Given the description of an element on the screen output the (x, y) to click on. 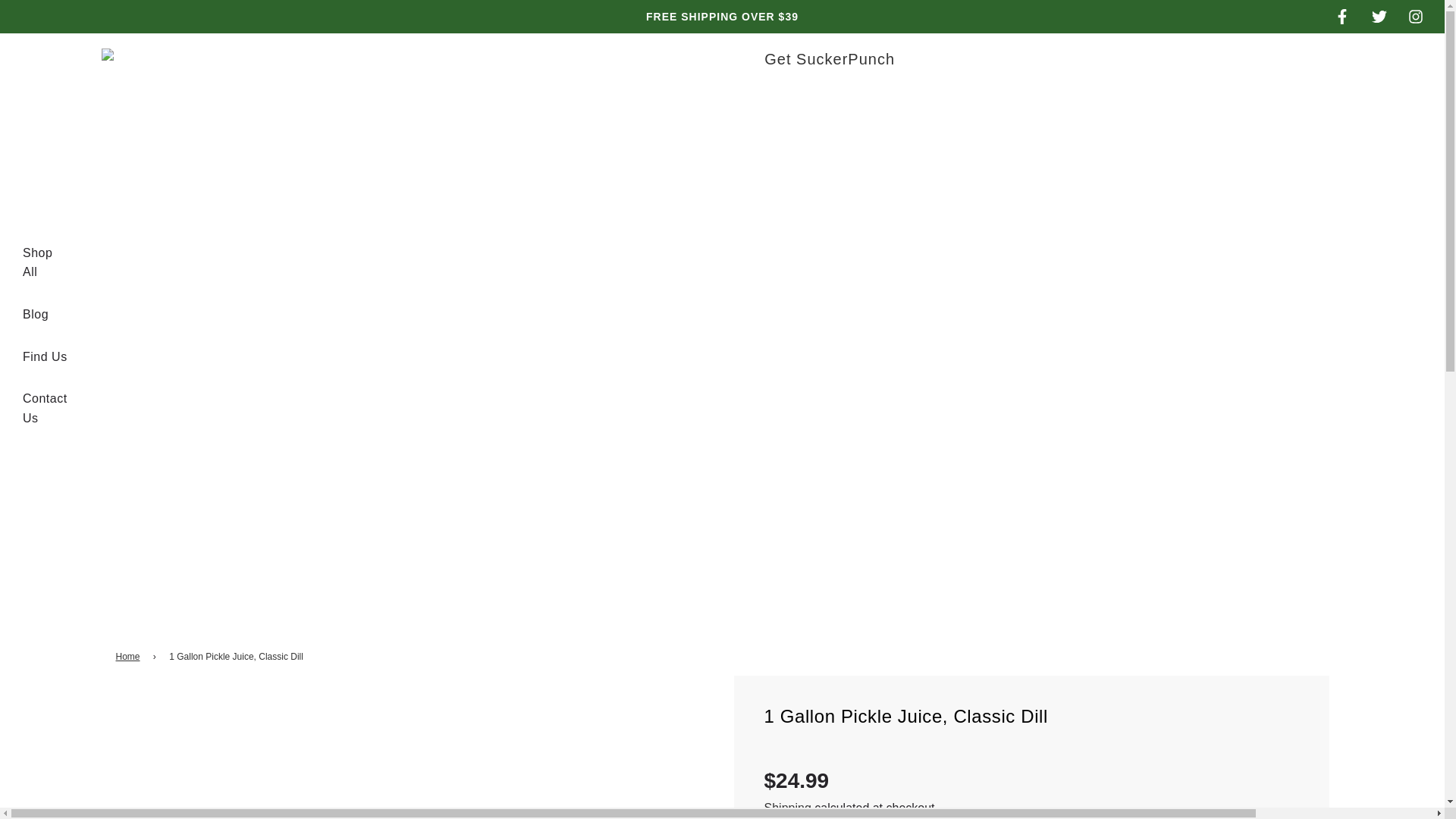
Back to the frontpage (129, 657)
Home (129, 657)
Shipping (787, 808)
Contact Us (44, 407)
Find Us (44, 356)
Shop All (44, 262)
Blog (35, 314)
